Given the description of an element on the screen output the (x, y) to click on. 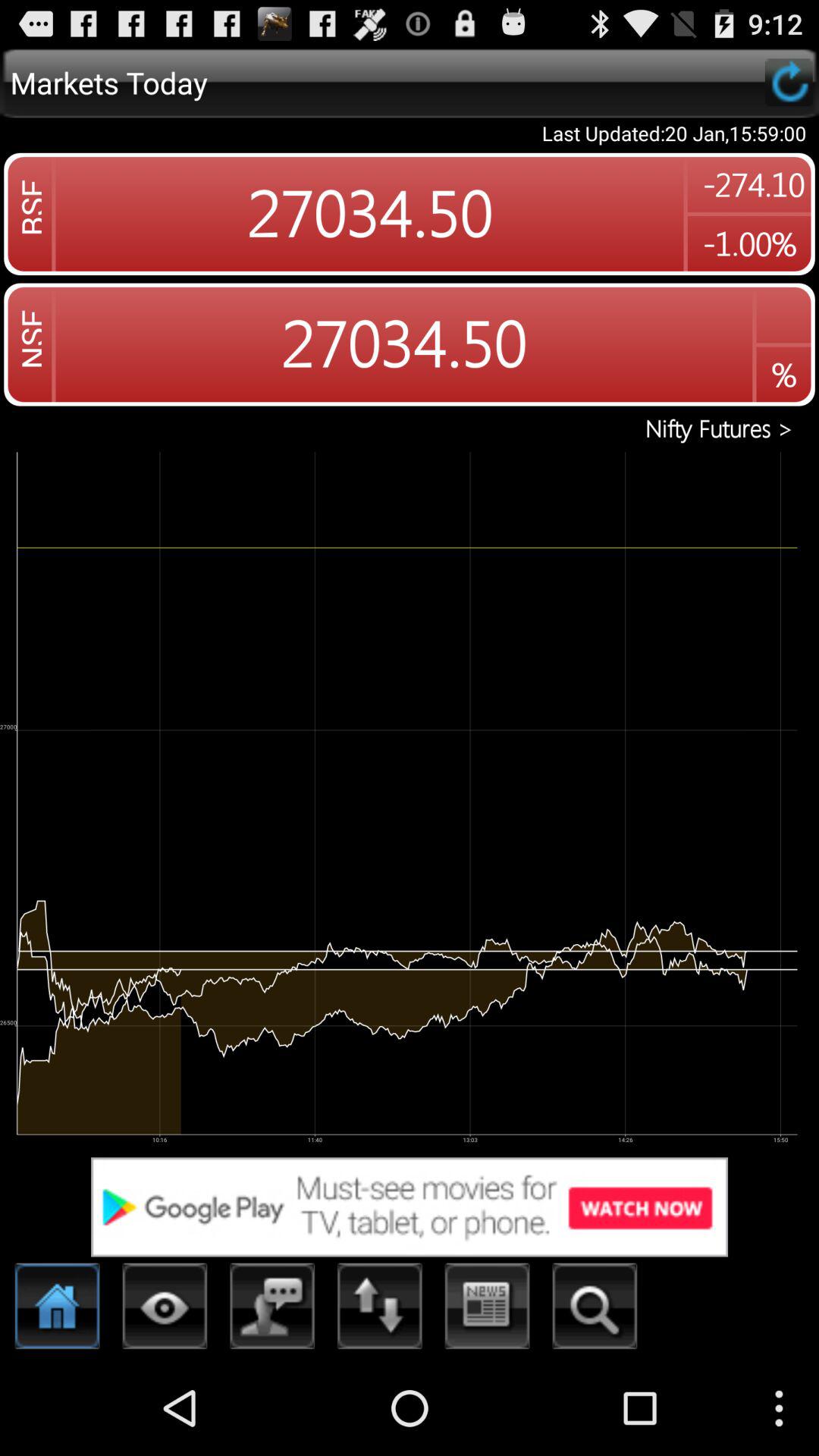
contacts (272, 1310)
